Given the description of an element on the screen output the (x, y) to click on. 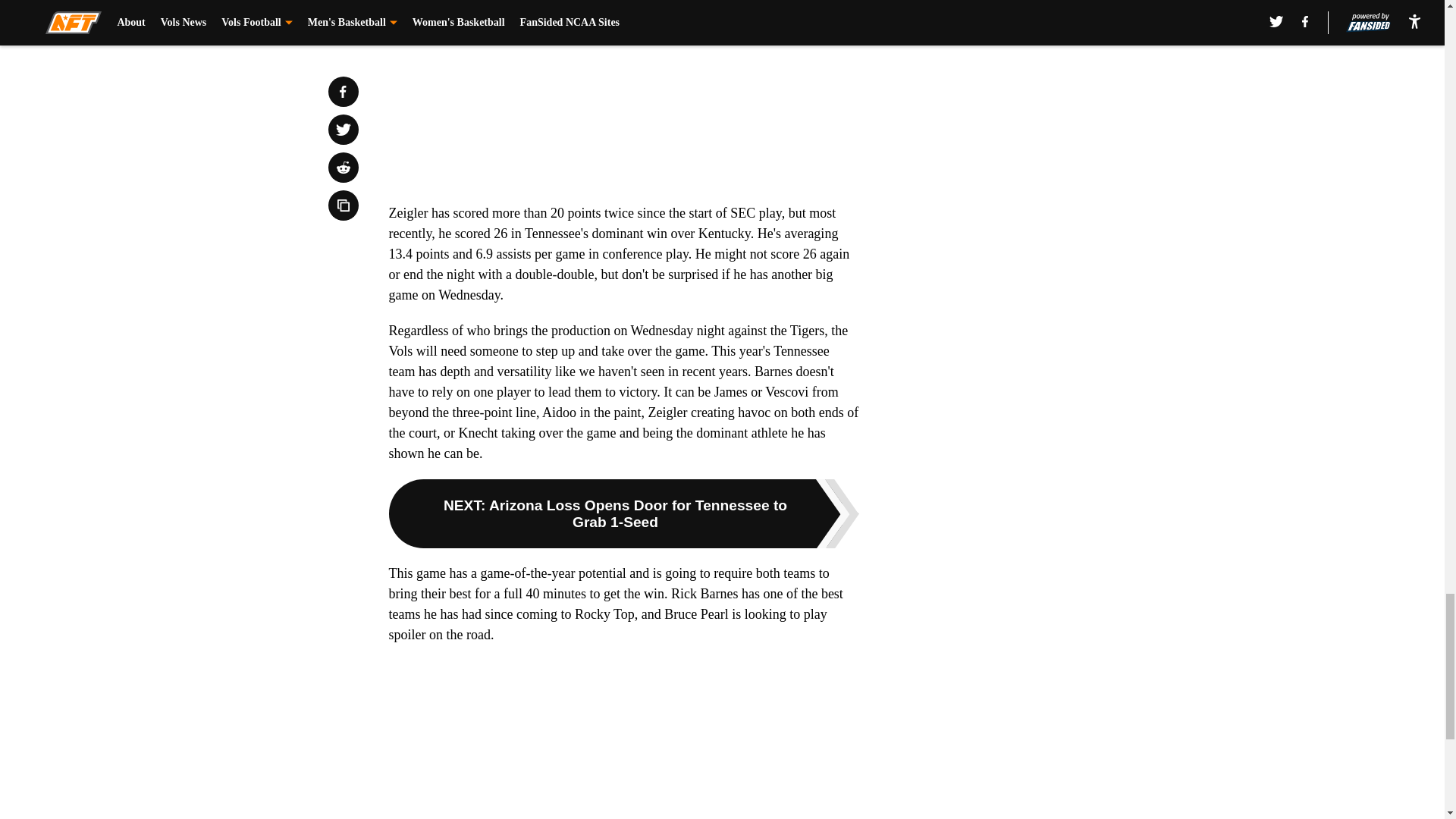
NEXT: Arizona Loss Opens Door for Tennessee to Grab 1-Seed (623, 513)
